Given the description of an element on the screen output the (x, y) to click on. 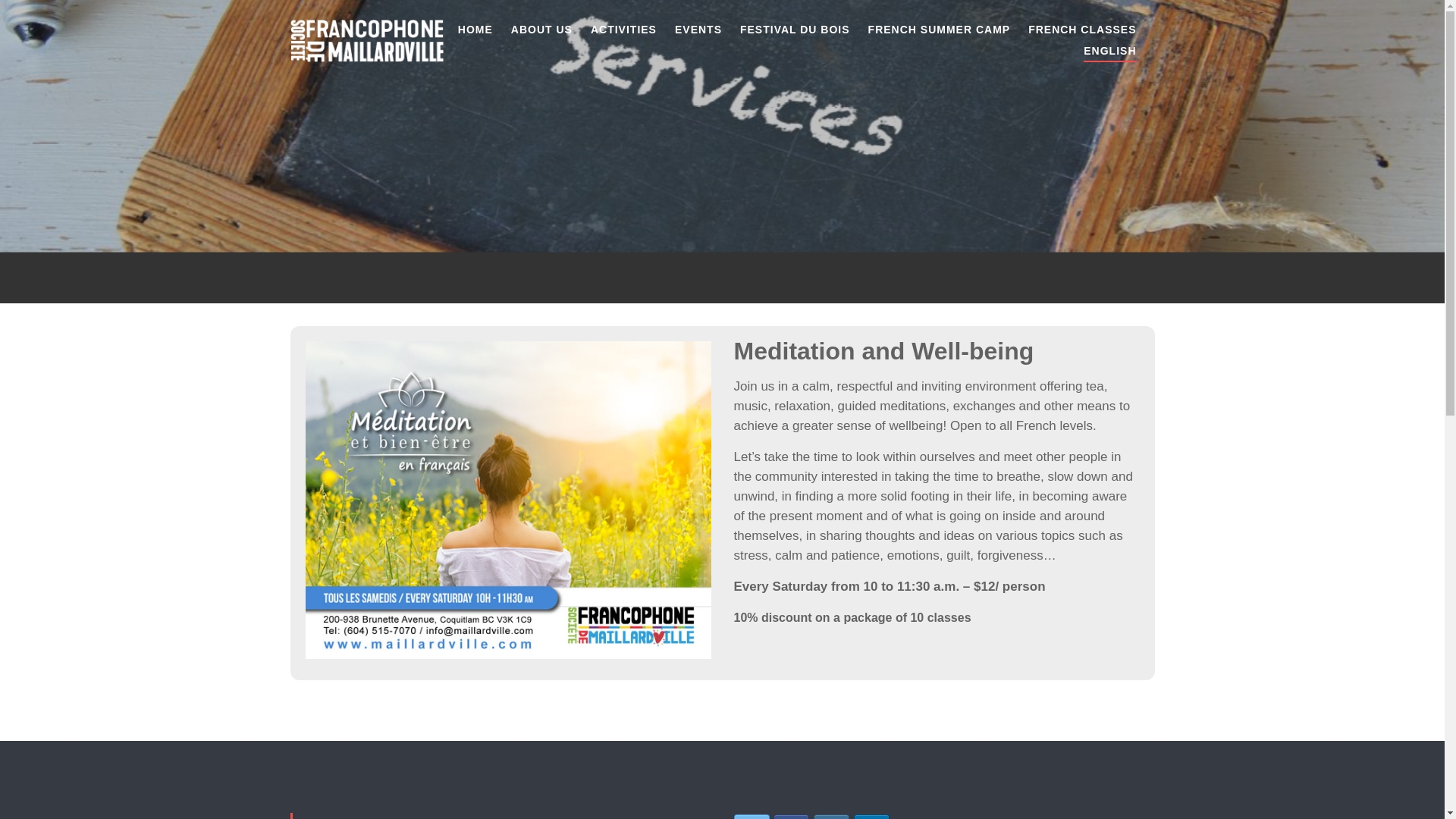
FESTIVAL DU BOIS (794, 31)
Maillardville on Twitter (751, 816)
Maillardville on Facebook (791, 816)
EVENTS (698, 31)
ACTIVITIES (623, 31)
Maillardville on Instagram (830, 816)
ABOUT US (541, 31)
ENGLISH (1109, 53)
English (1109, 53)
Maillardville on Linkedin (871, 816)
FRENCH SUMMER CAMP (938, 31)
HOME (475, 31)
FRENCH CLASSES (1081, 31)
